Given the description of an element on the screen output the (x, y) to click on. 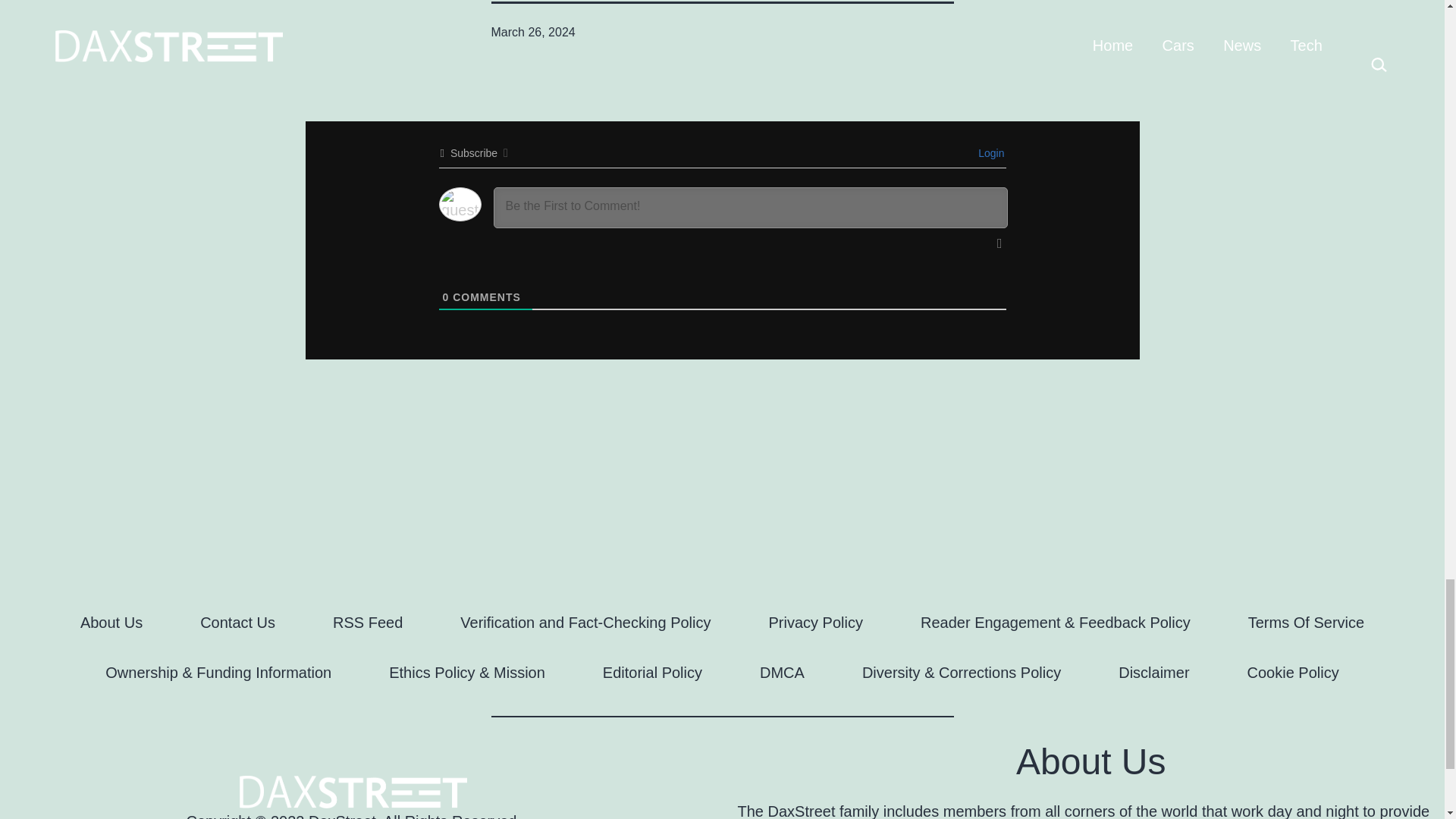
Privacy Policy (815, 621)
Verification and Fact-Checking Policy (585, 621)
Contact Us (236, 621)
Terms Of Service (1305, 621)
Editorial Policy (652, 671)
Disclaimer (1153, 671)
DMCA (781, 671)
RSS Feed (367, 621)
Cookie Policy (1292, 671)
About Us (111, 621)
